Given the description of an element on the screen output the (x, y) to click on. 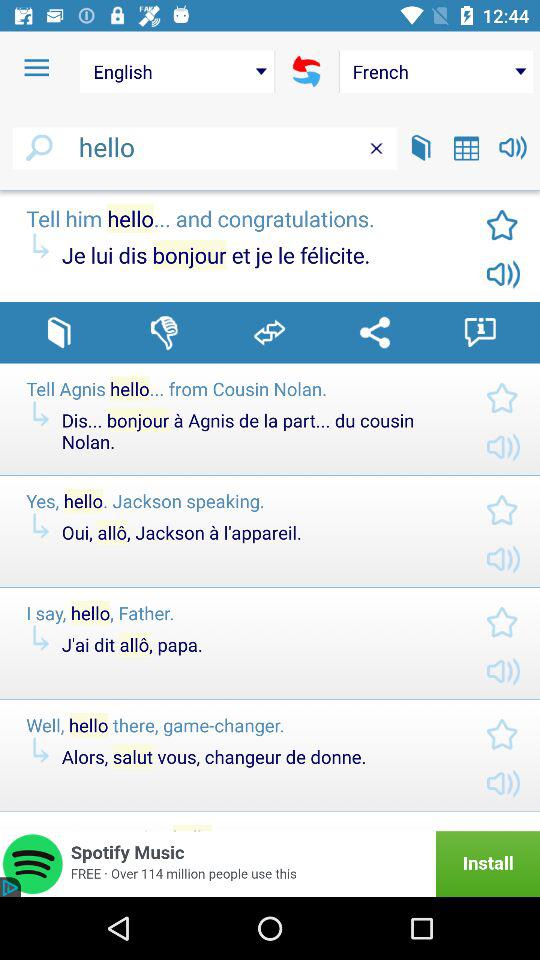
dislike example sentence (163, 332)
